Given the description of an element on the screen output the (x, y) to click on. 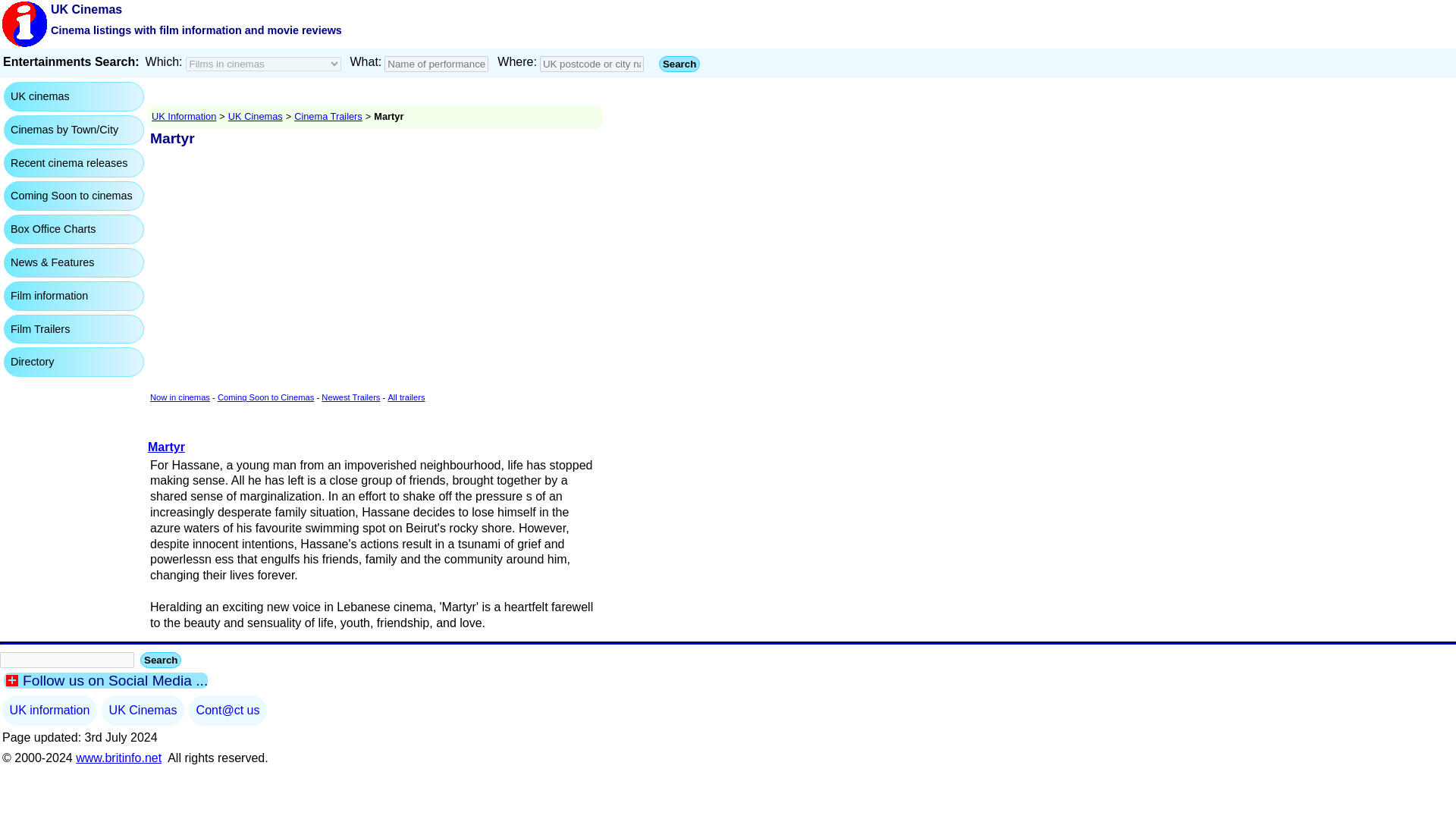
www.britinfo.net (118, 757)
Search (679, 64)
Follow us on Social Media ... (106, 680)
UK cinemas (39, 96)
Advertisement (60, 414)
Directory (32, 361)
All trailers (406, 397)
UK Information (183, 116)
Search (159, 659)
Martyr (166, 446)
Newest Trailers (350, 397)
Coming Soon to cinemas (71, 195)
Coming Soon to Cinemas (265, 397)
Search (679, 64)
UK Cinemas (255, 116)
